Given the description of an element on the screen output the (x, y) to click on. 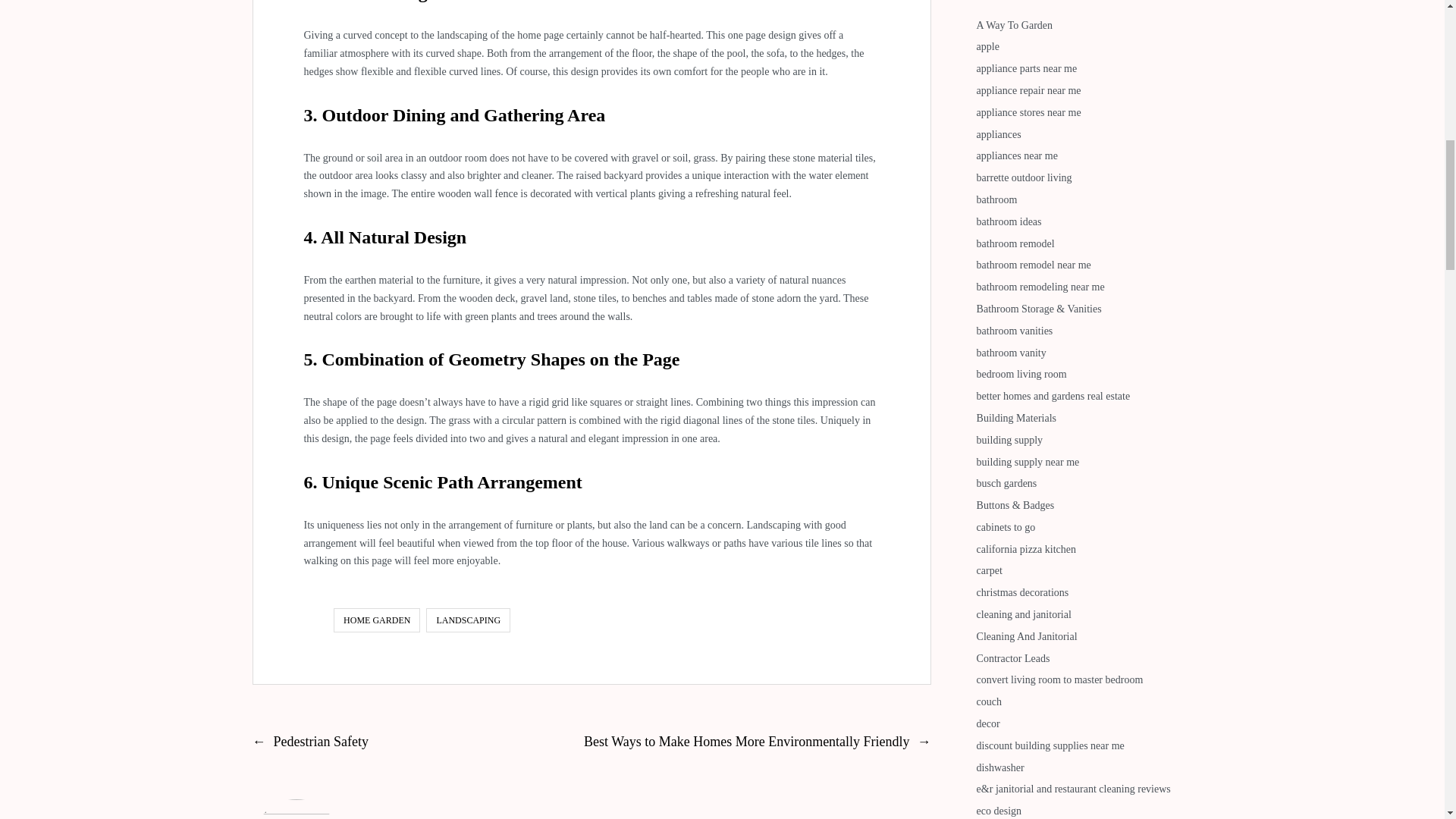
Author (295, 809)
